Given the description of an element on the screen output the (x, y) to click on. 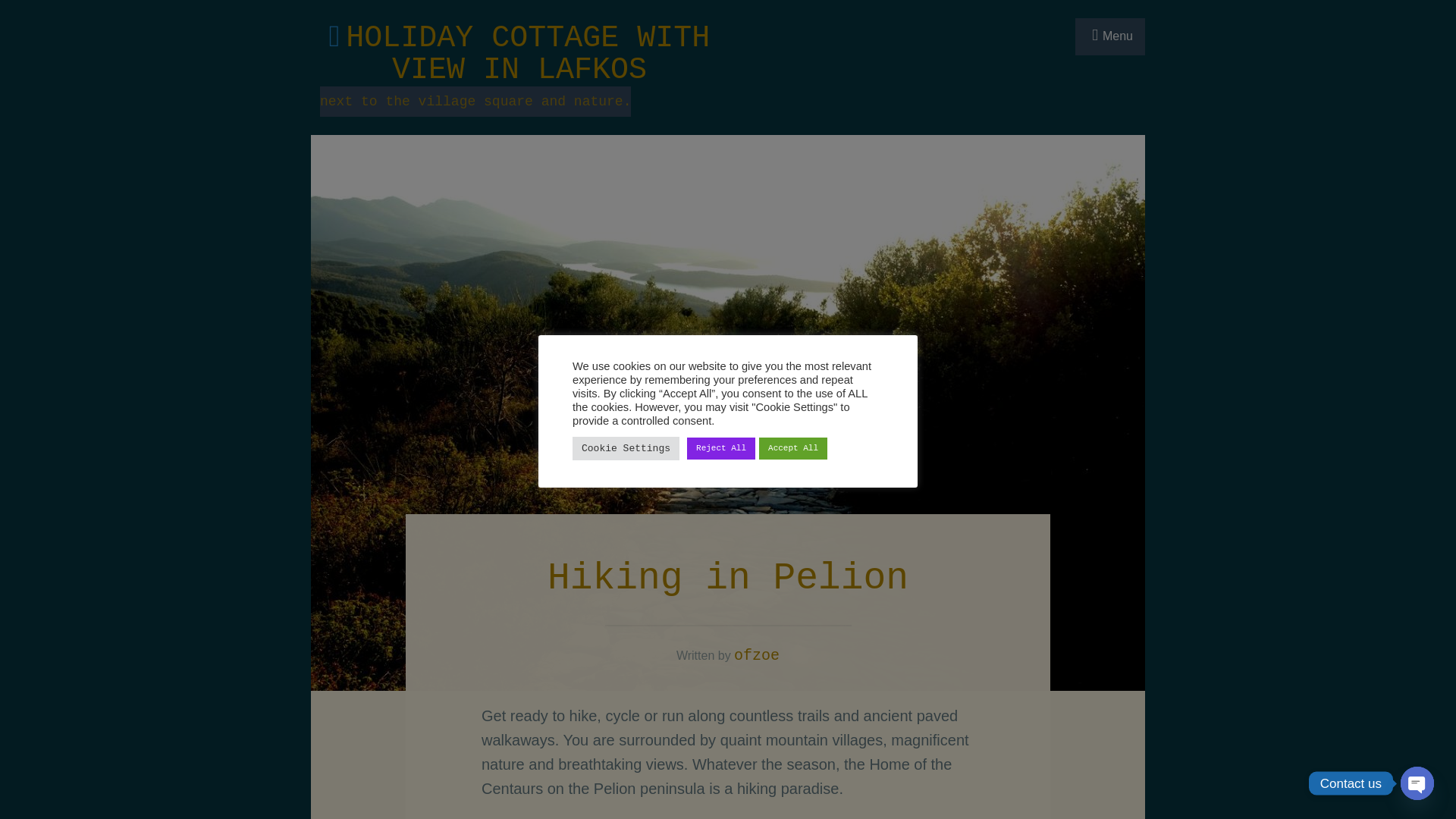
Menu (1109, 36)
Posts by ofzoe (755, 655)
HOLIDAY COTTAGE WITH VIEW IN LAFKOS (528, 53)
ofzoe (755, 655)
